Given the description of an element on the screen output the (x, y) to click on. 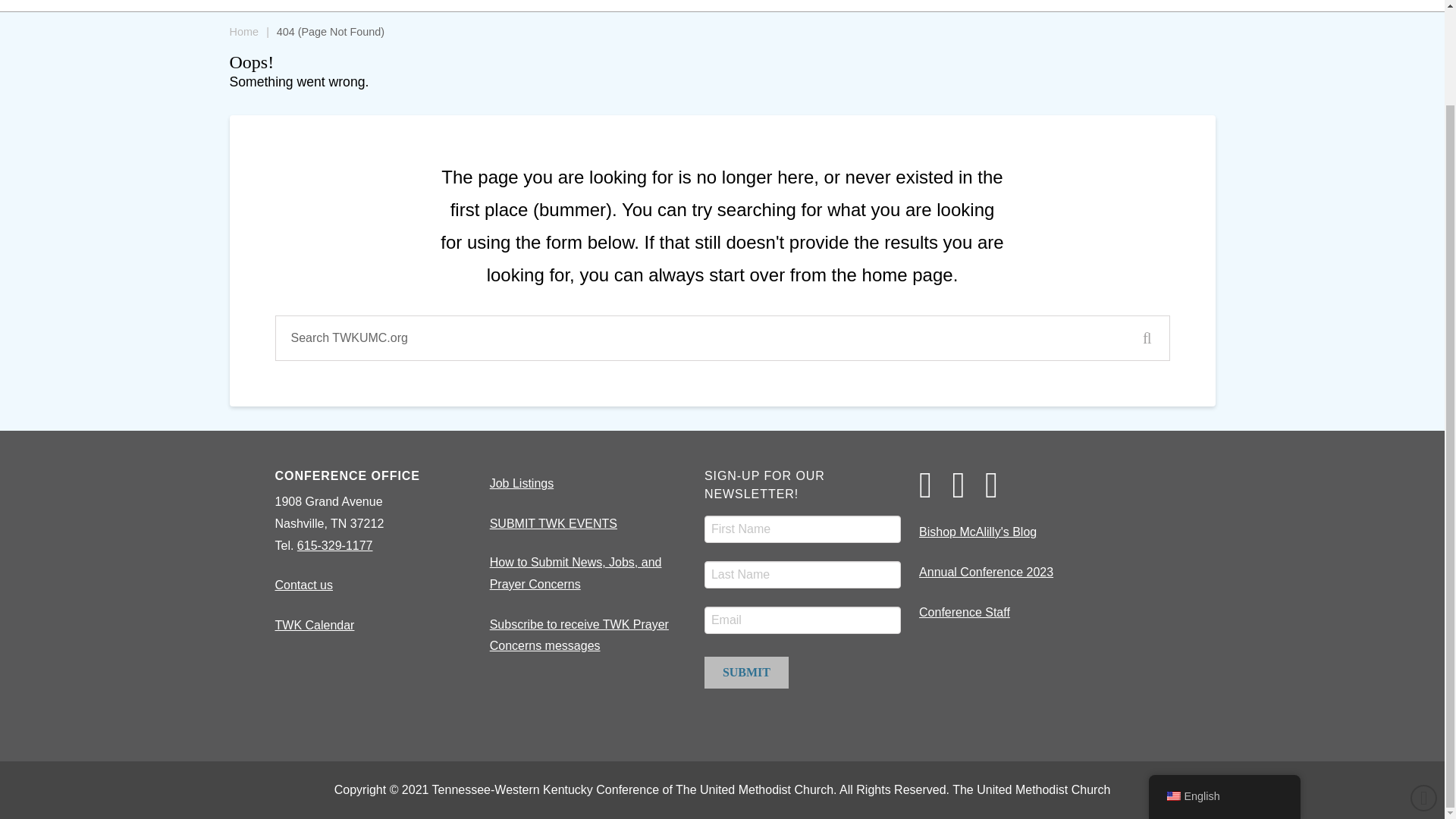
Back to Top (1423, 687)
English (1172, 686)
Submit (746, 672)
You Are Here (330, 31)
